Given the description of an element on the screen output the (x, y) to click on. 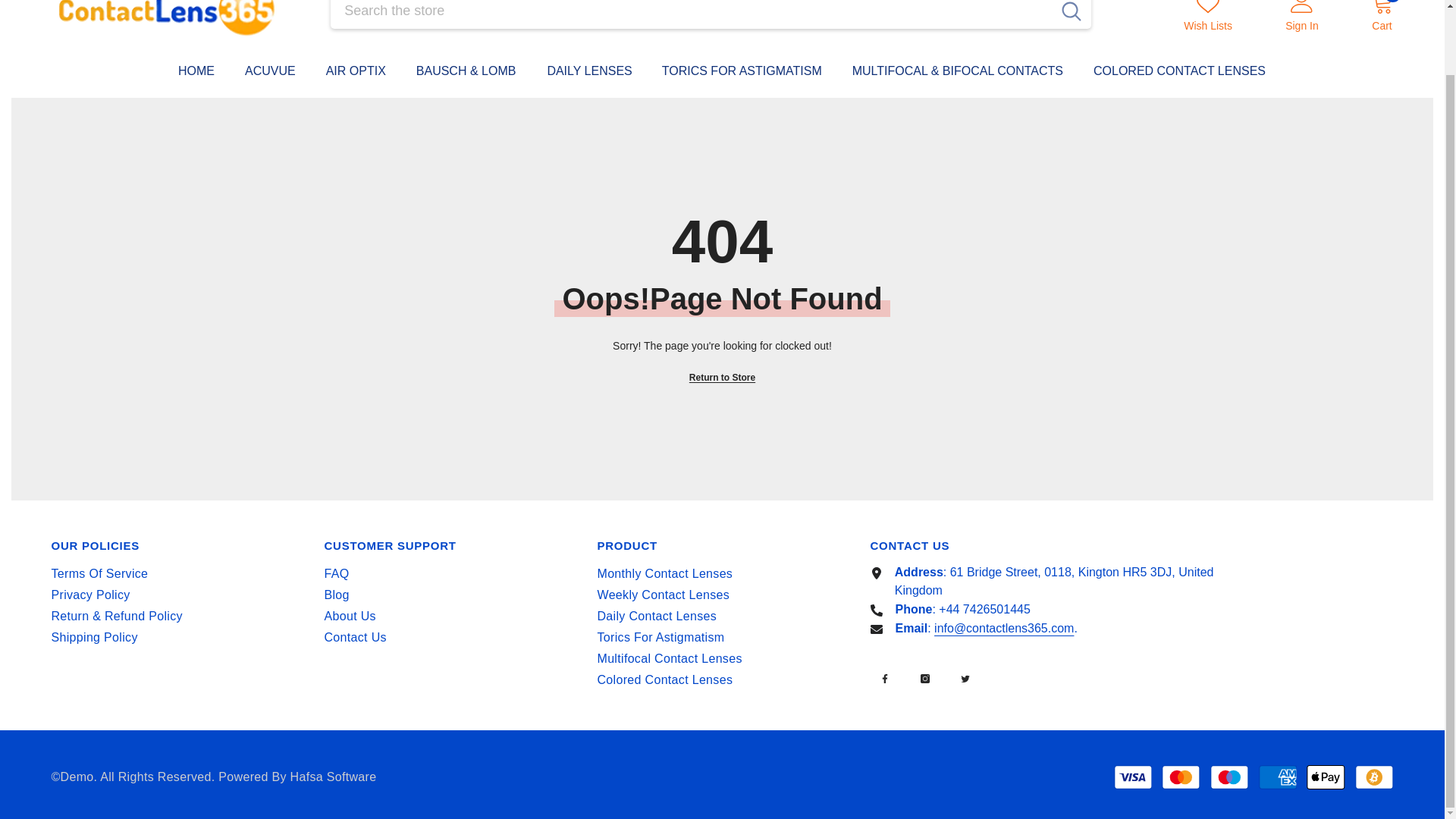
Maestro (1229, 776)
Apple Pay (1325, 776)
Visa (1132, 776)
Mastercard (1180, 776)
American Express (1278, 776)
